Given the description of an element on the screen output the (x, y) to click on. 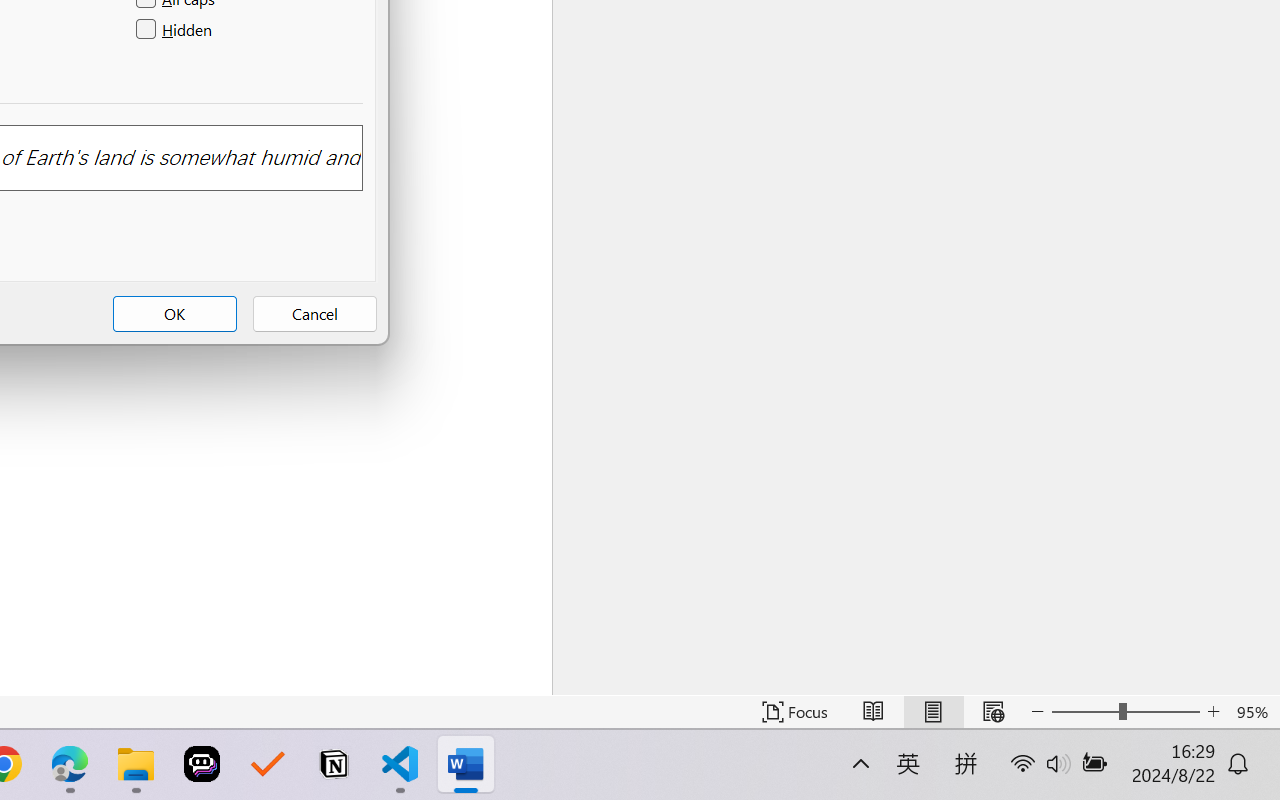
Cancel (314, 313)
Notion (333, 764)
